Given the description of an element on the screen output the (x, y) to click on. 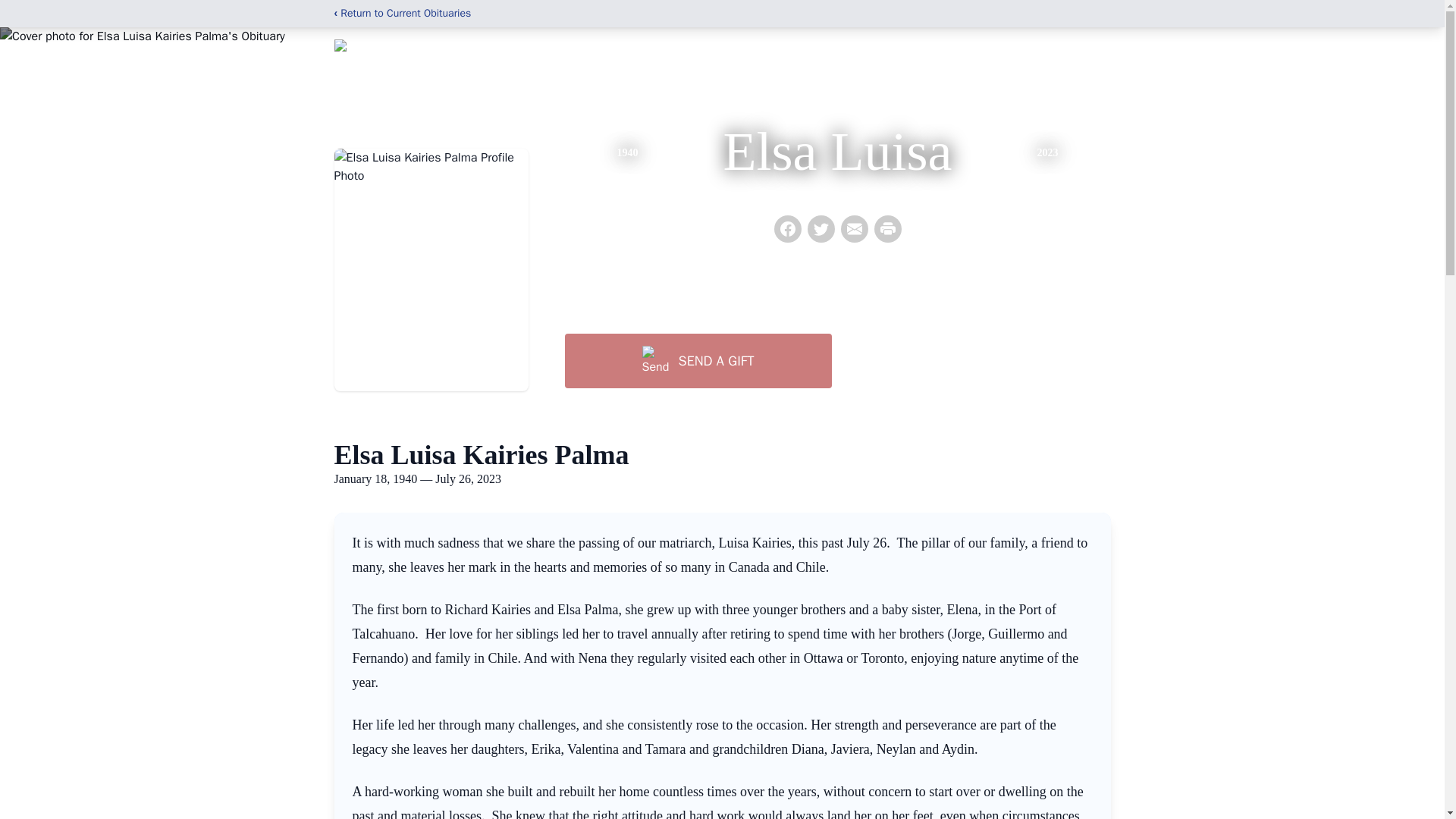
SEND A GIFT (697, 360)
